Given the description of an element on the screen output the (x, y) to click on. 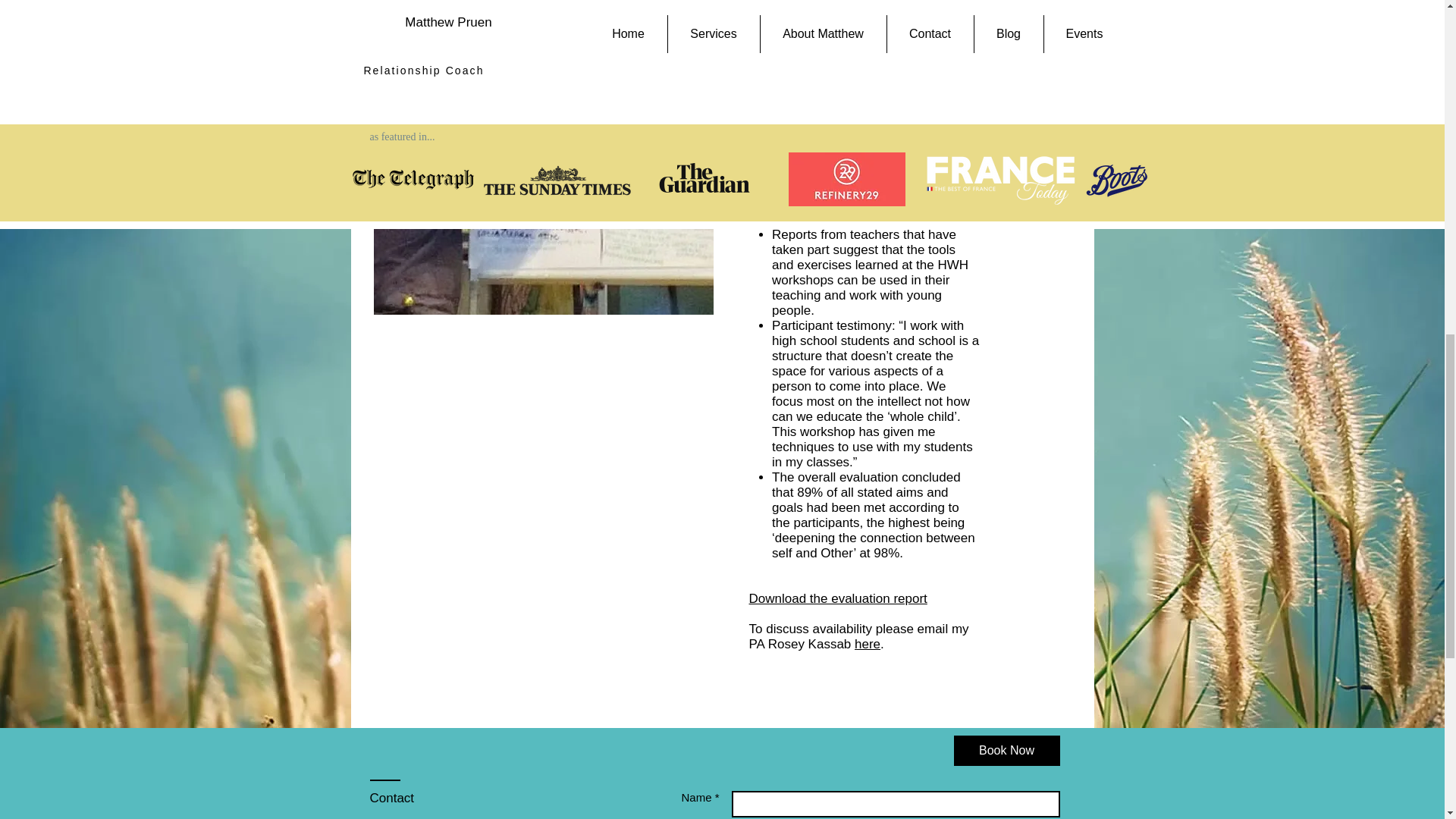
here (867, 644)
Download the evaluation report (838, 598)
Group training (542, 157)
Book Now (1006, 750)
